Given the description of an element on the screen output the (x, y) to click on. 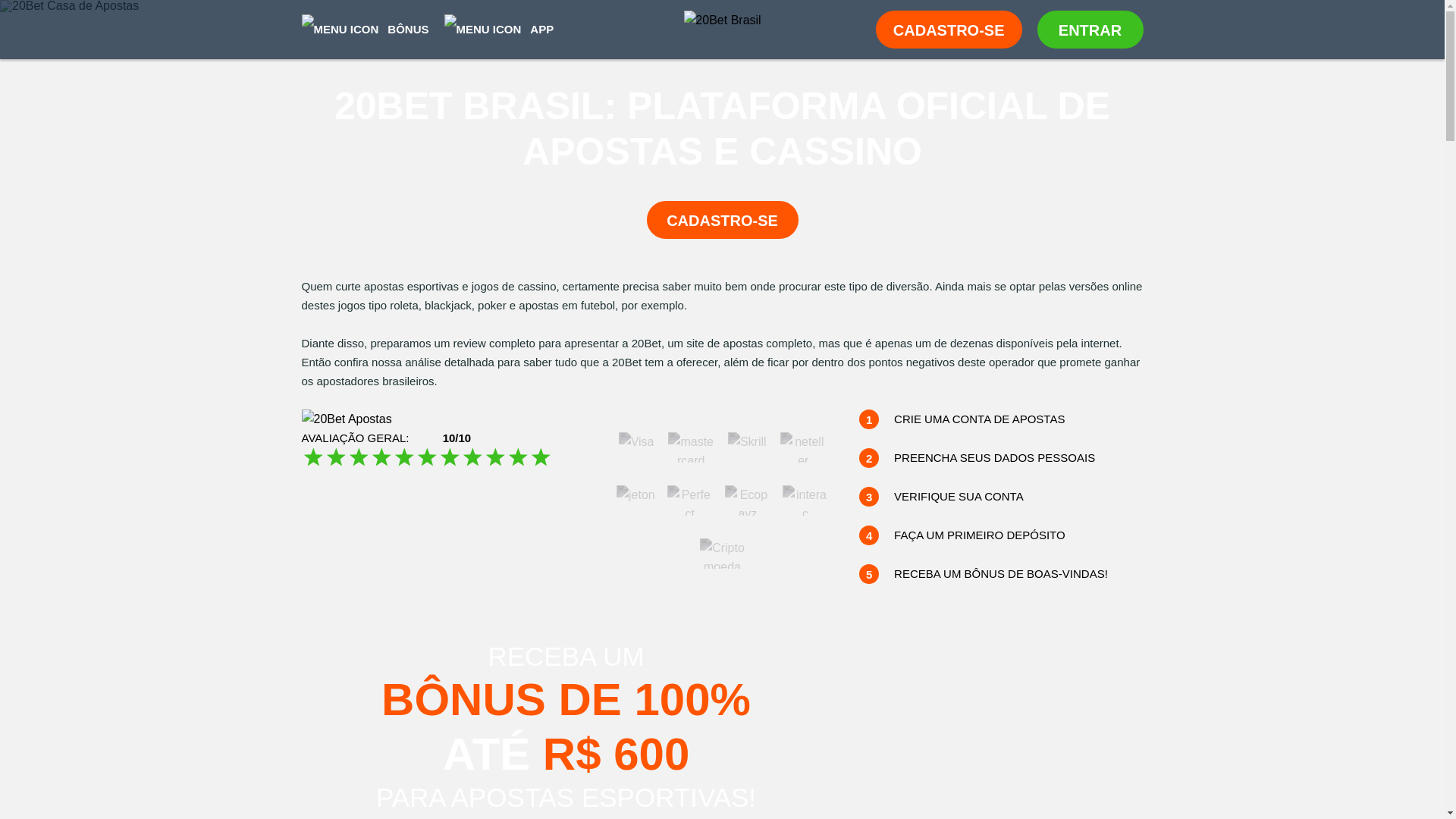
Criptomoeda Element type: hover (721, 553)
APP Element type: text (499, 29)
jeton Element type: hover (635, 494)
Ecopayz Element type: hover (747, 500)
Skrill Element type: hover (747, 441)
20Bet Casa de Apostas Element type: hover (722, 6)
20Bet Brasil Element type: hover (721, 29)
mastercard Element type: hover (690, 447)
neteller Element type: hover (802, 447)
Menu icon Element type: hover (482, 29)
ENTRAR Element type: text (1090, 29)
Menu icon Element type: hover (340, 29)
CADASTRO-SE Element type: text (721, 219)
Visa Element type: hover (636, 441)
interac Element type: hover (805, 500)
Perfect Money Element type: hover (689, 500)
CADASTRO-SE Element type: text (948, 29)
20Bet Apostas Element type: hover (346, 418)
